Given the description of an element on the screen output the (x, y) to click on. 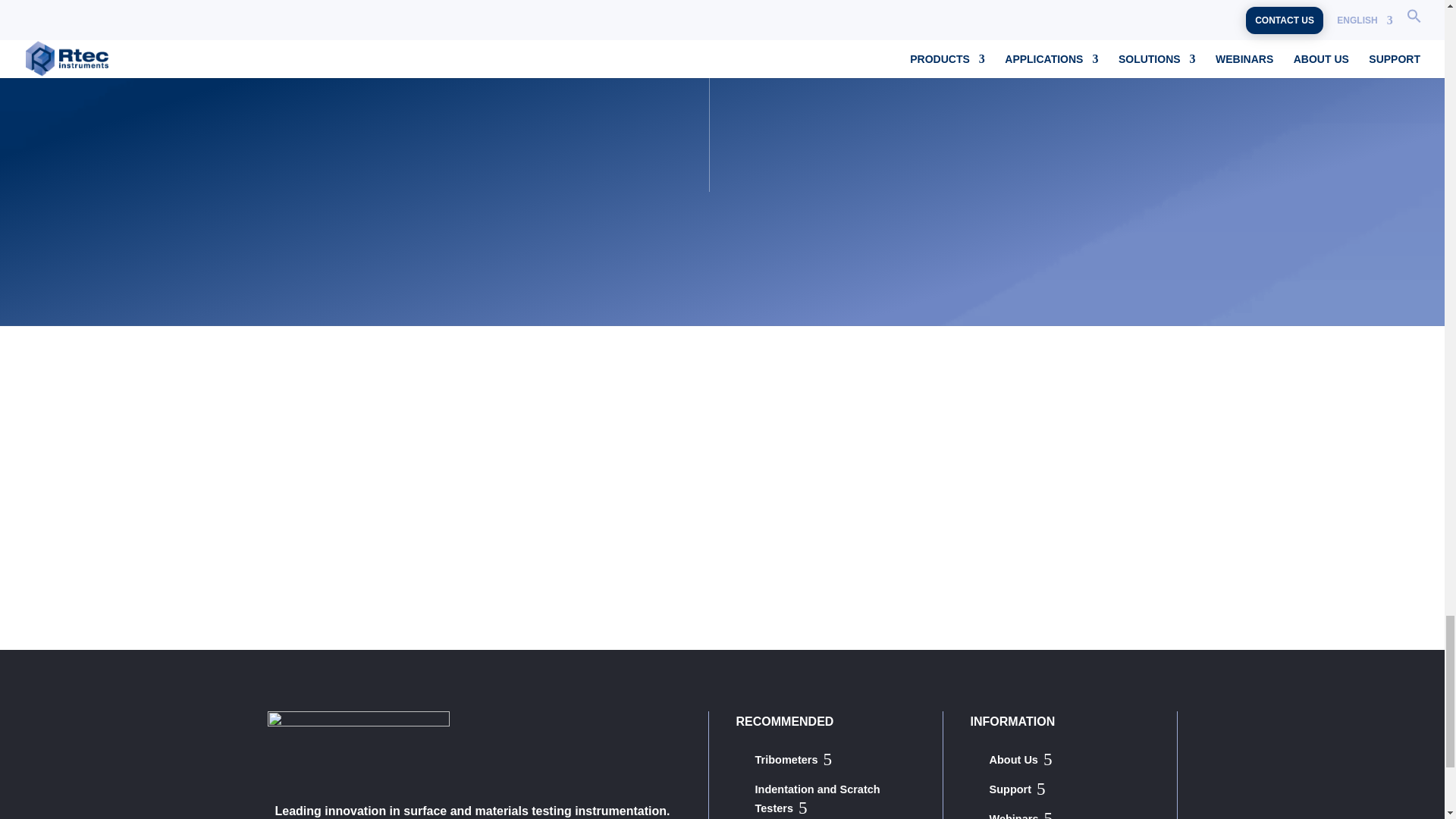
Rtec-Instruments-Logo-White (357, 749)
